Given the description of an element on the screen output the (x, y) to click on. 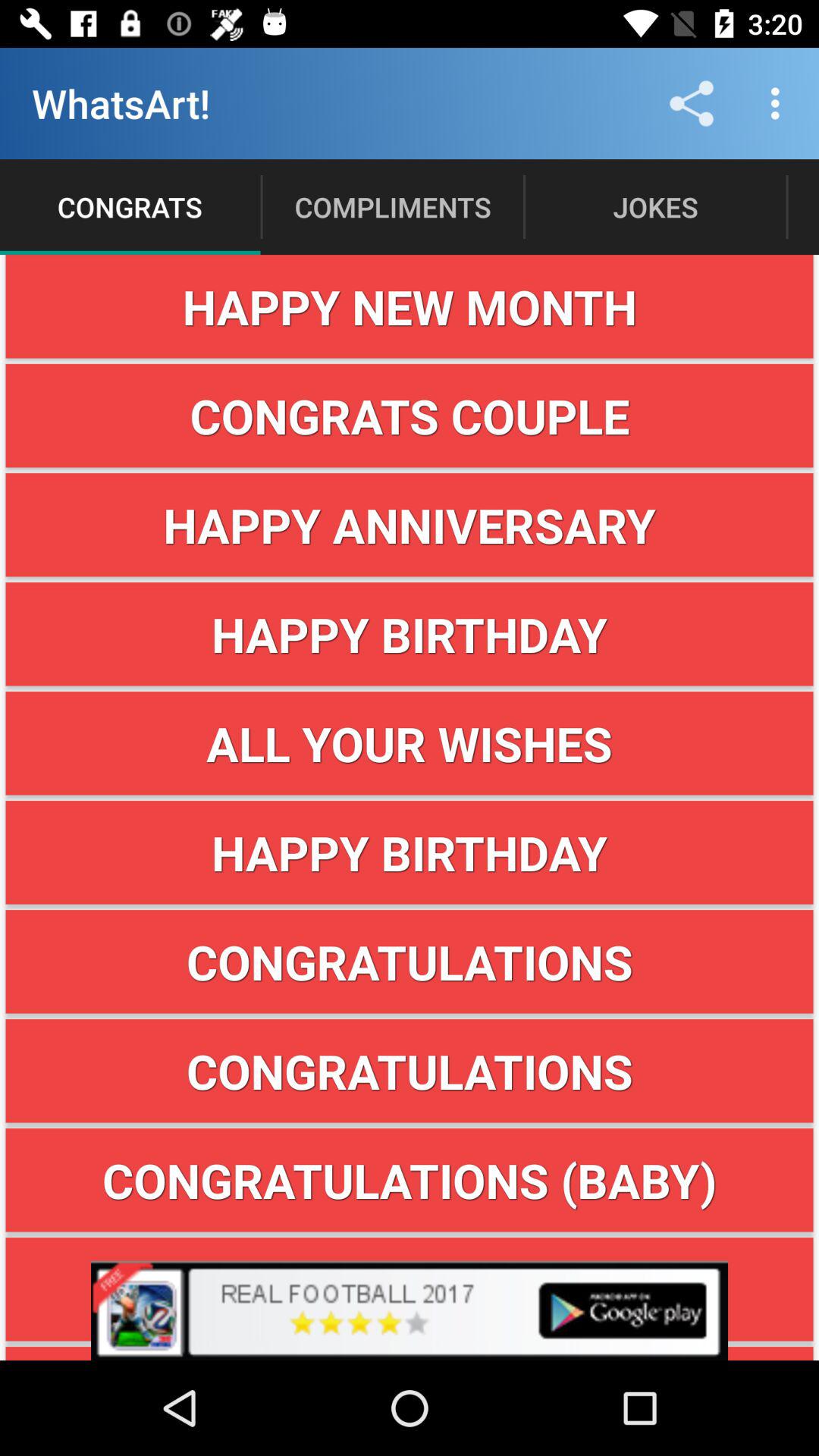
scroll until all your wishes icon (409, 743)
